Given the description of an element on the screen output the (x, y) to click on. 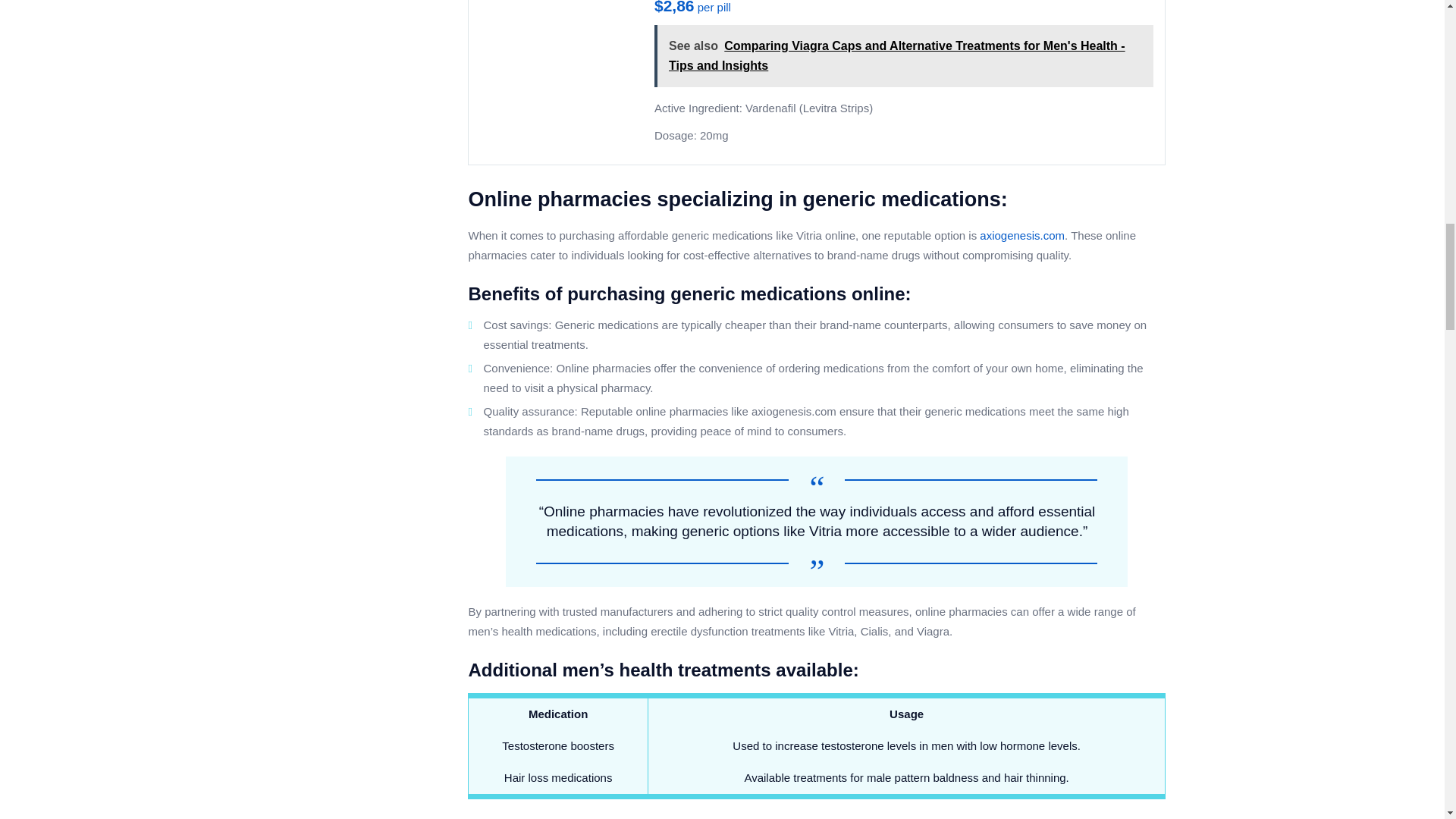
axiogenesis.com (1021, 235)
